Given the description of an element on the screen output the (x, y) to click on. 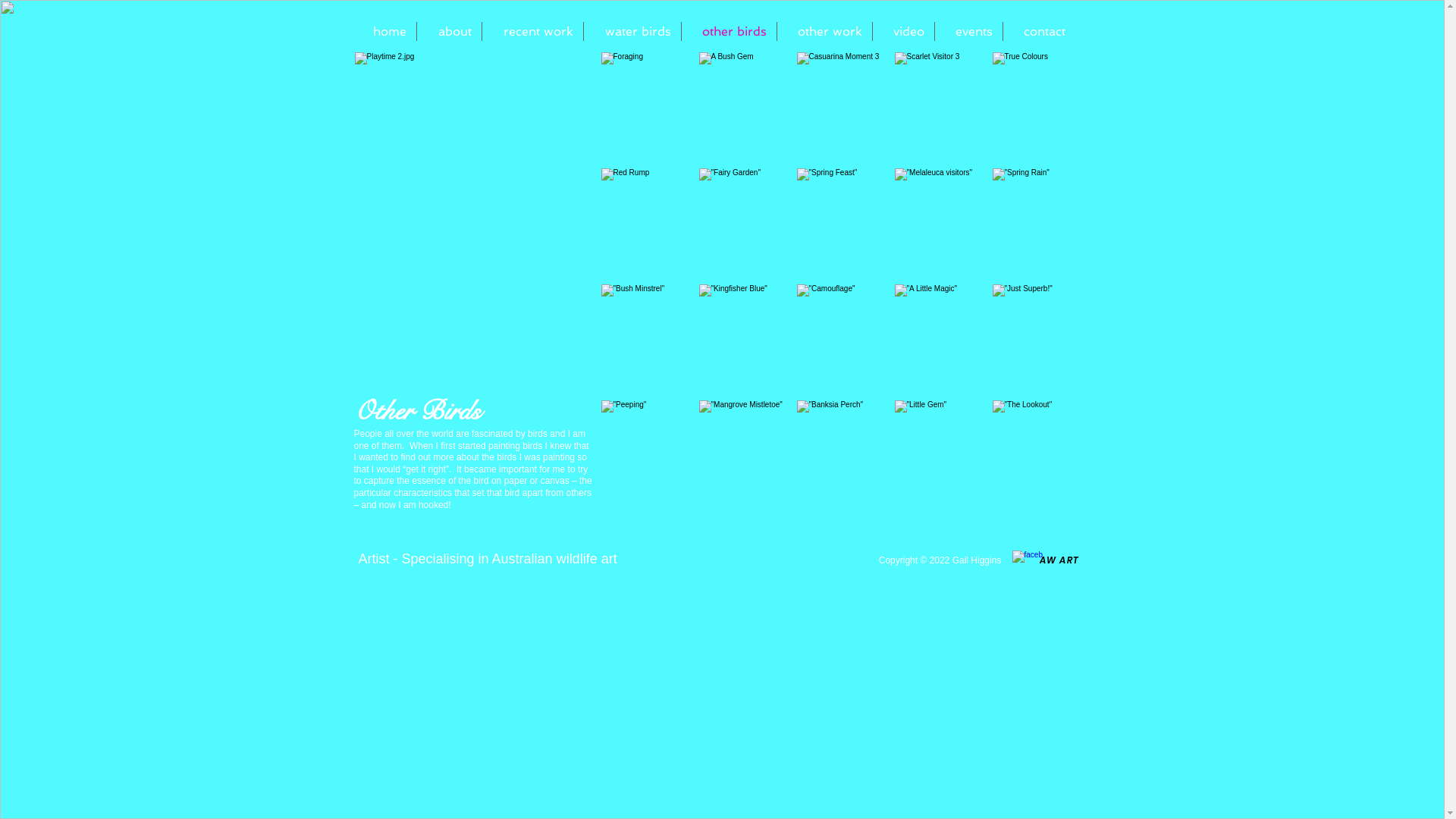
Spring Feast 2.JPG Element type: hover (473, 220)
recent work Element type: text (532, 30)
other work Element type: text (823, 30)
home Element type: text (383, 30)
about Element type: text (449, 30)
water birds Element type: text (631, 30)
video Element type: text (902, 30)
events Element type: text (967, 30)
AW ART Element type: text (1058, 559)
other birds Element type: text (727, 30)
contact Element type: text (1038, 30)
